Given the description of an element on the screen output the (x, y) to click on. 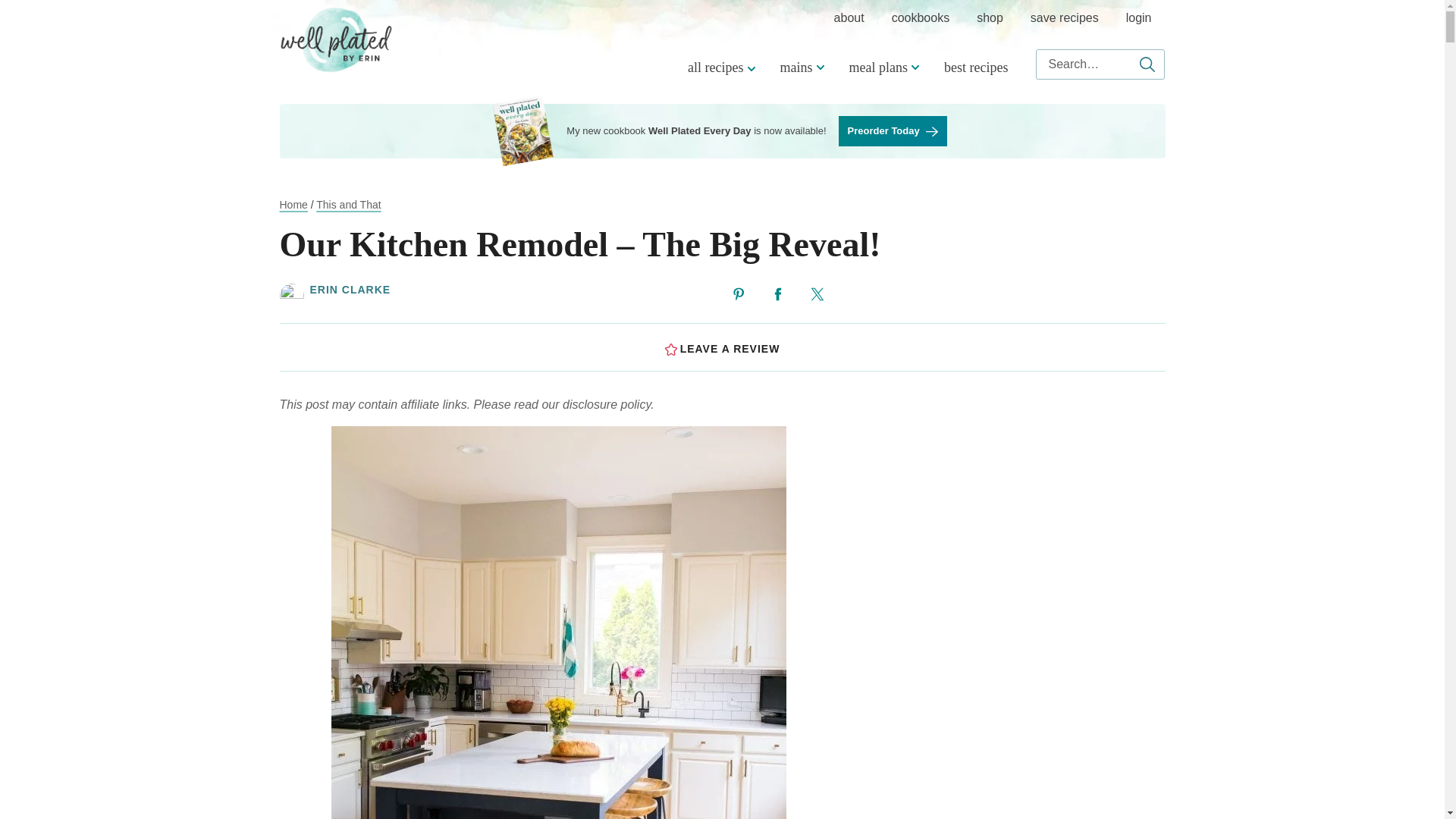
Share on Twitter (817, 294)
Share on Pinterest (738, 294)
all recipes (719, 67)
Share on Facebook (777, 294)
Well Plated by Erin (336, 39)
Search for (1099, 63)
